Given the description of an element on the screen output the (x, y) to click on. 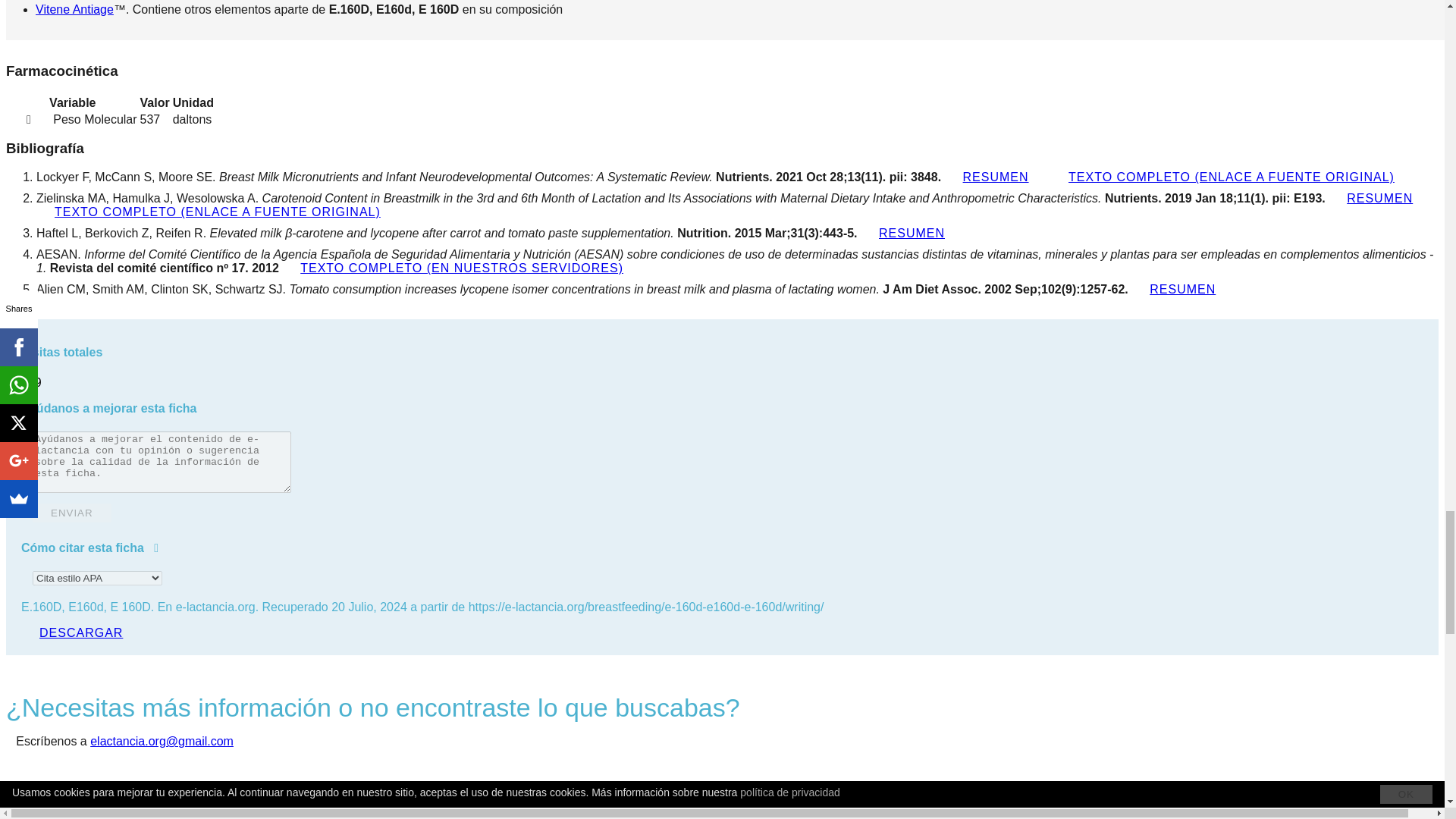
Vitene Antiage (73, 9)
RESUMEN (995, 177)
RESUMEN (1379, 198)
Enviar (72, 512)
RESUMEN (911, 232)
